Given the description of an element on the screen output the (x, y) to click on. 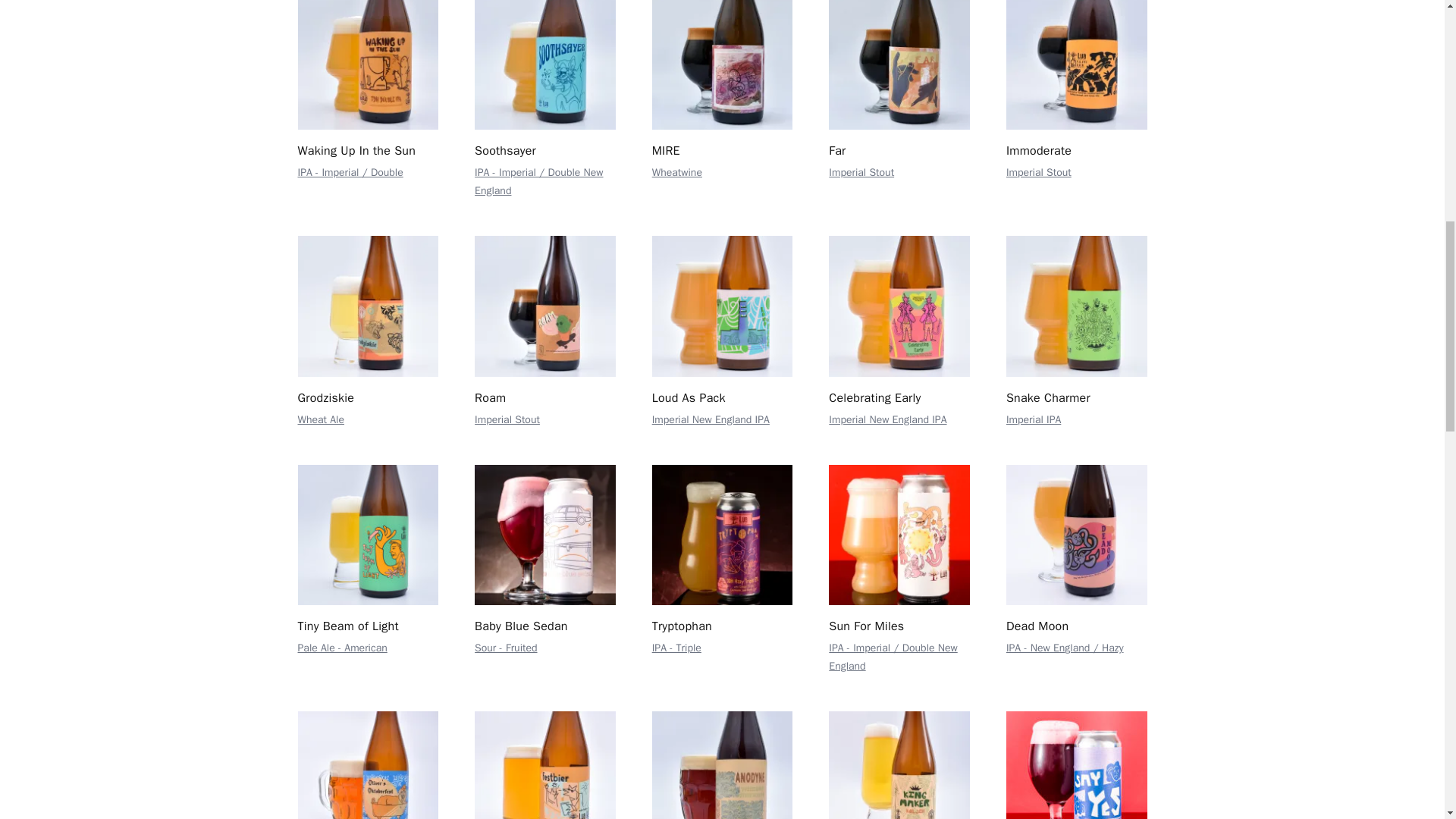
Imperial Stout (507, 419)
Wheatwine (676, 172)
Wheat Ale (320, 419)
Pale Ale - American (342, 647)
Imperial Stout (1038, 172)
Imperial IPA (1033, 419)
Imperial New England IPA (711, 419)
Imperial New England IPA (887, 419)
Imperial Stout (860, 172)
